Given the description of an element on the screen output the (x, y) to click on. 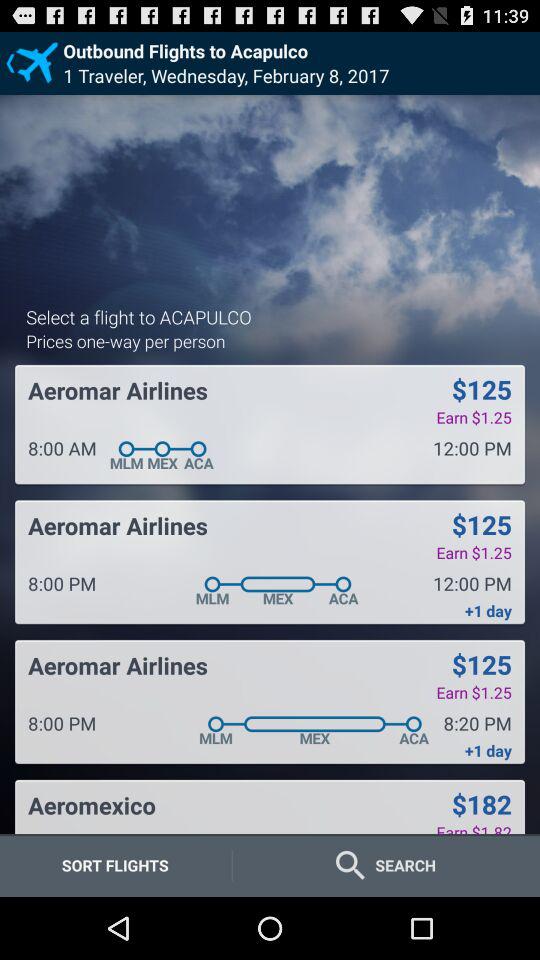
launch item to the left of the earn $1.82 app (92, 805)
